Given the description of an element on the screen output the (x, y) to click on. 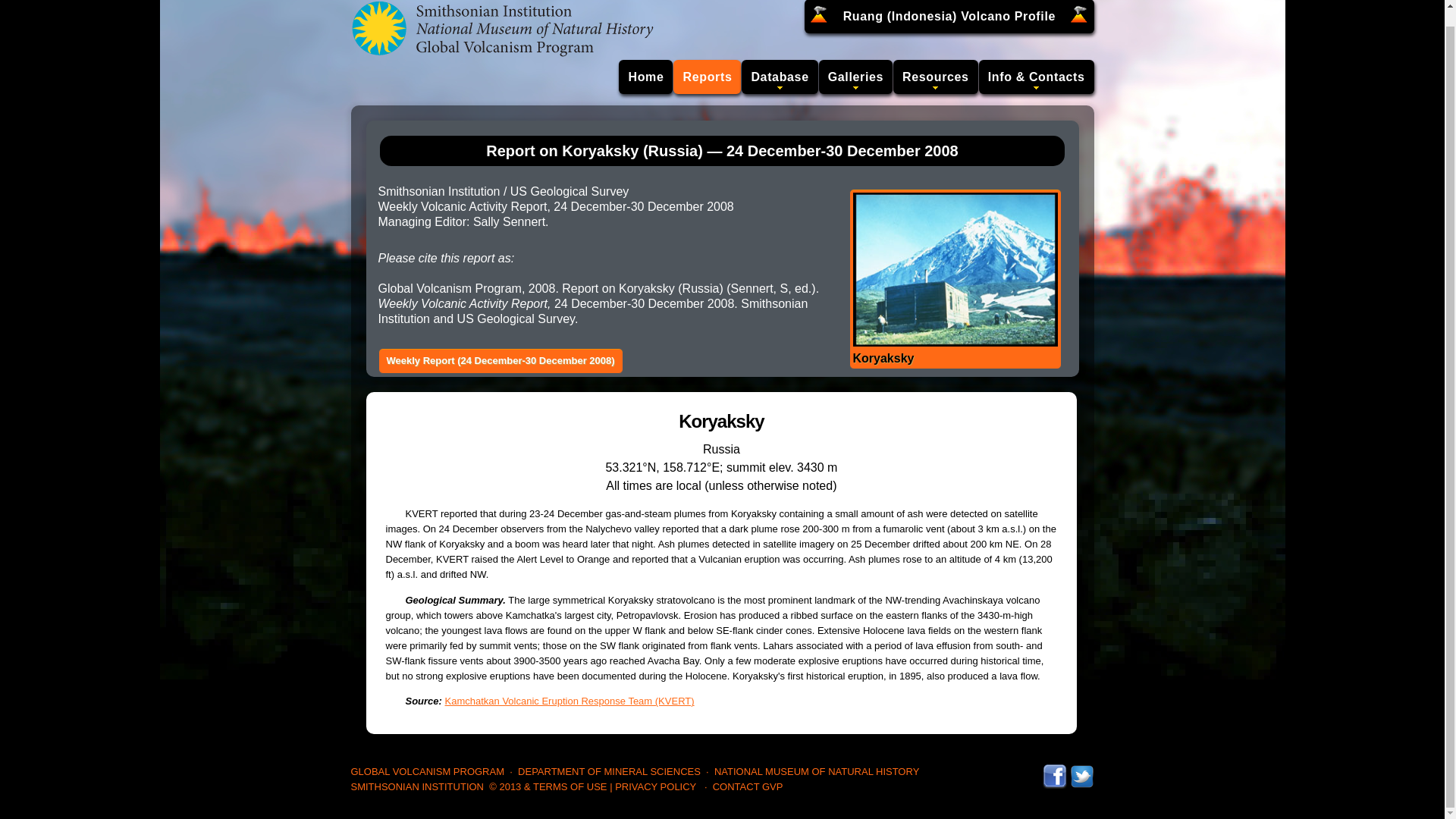
Link to Privacy Notice (654, 786)
Send email to GVP (748, 786)
Reports (706, 76)
Twitter (1080, 771)
Koryaksky (954, 278)
Database (778, 76)
Galleries (855, 76)
Resources (935, 76)
Facebook (1054, 771)
Home (645, 76)
Link to Copyright Notice and Terms of Use (548, 786)
